Given the description of an element on the screen output the (x, y) to click on. 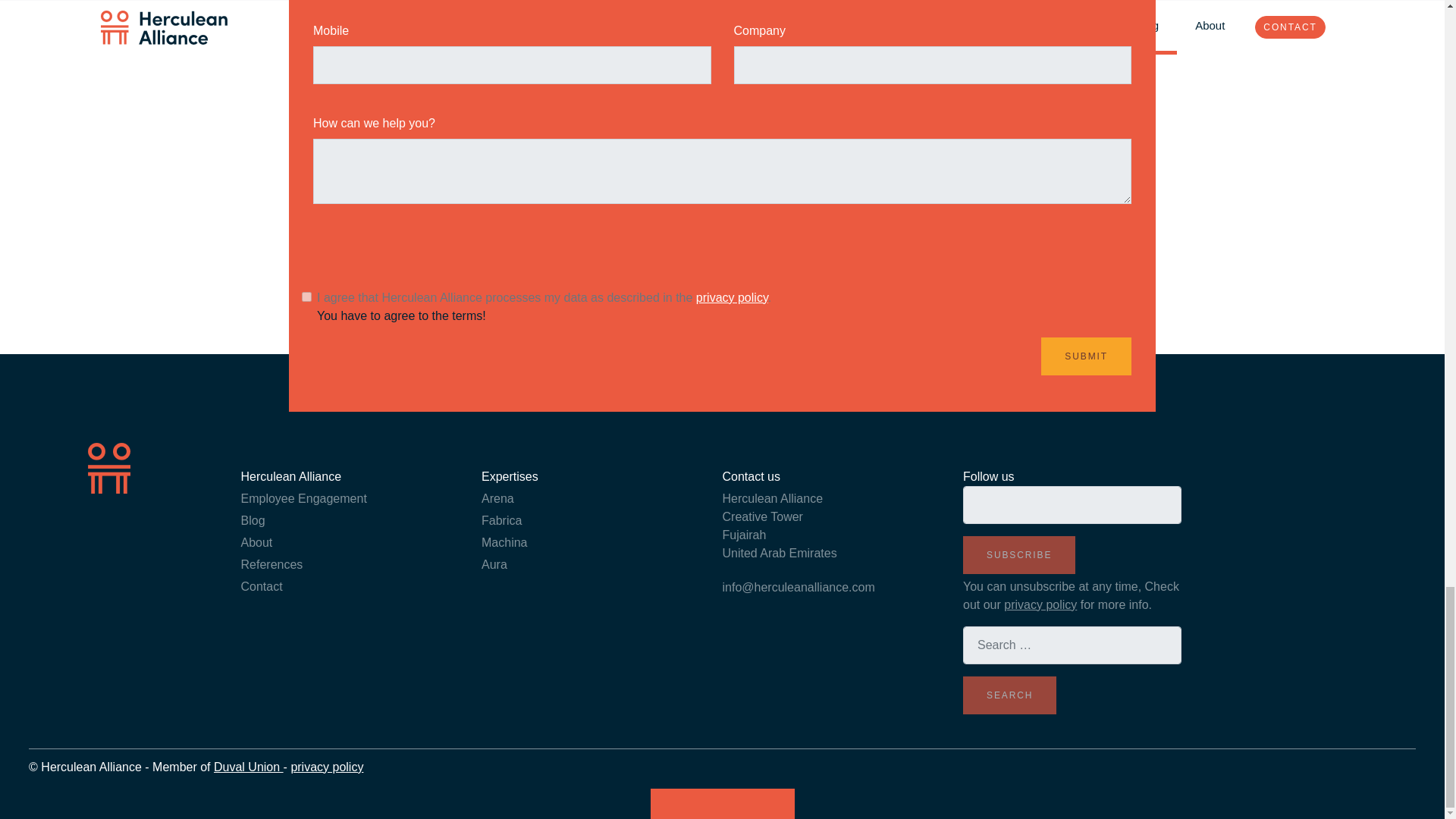
privacy policy (325, 766)
Search (1009, 695)
Blog (252, 520)
References (271, 563)
Search (1009, 695)
Fabrica (501, 520)
Contact (261, 585)
Arena (497, 498)
privacy policy (731, 297)
Employee Engagement (303, 498)
